Given the description of an element on the screen output the (x, y) to click on. 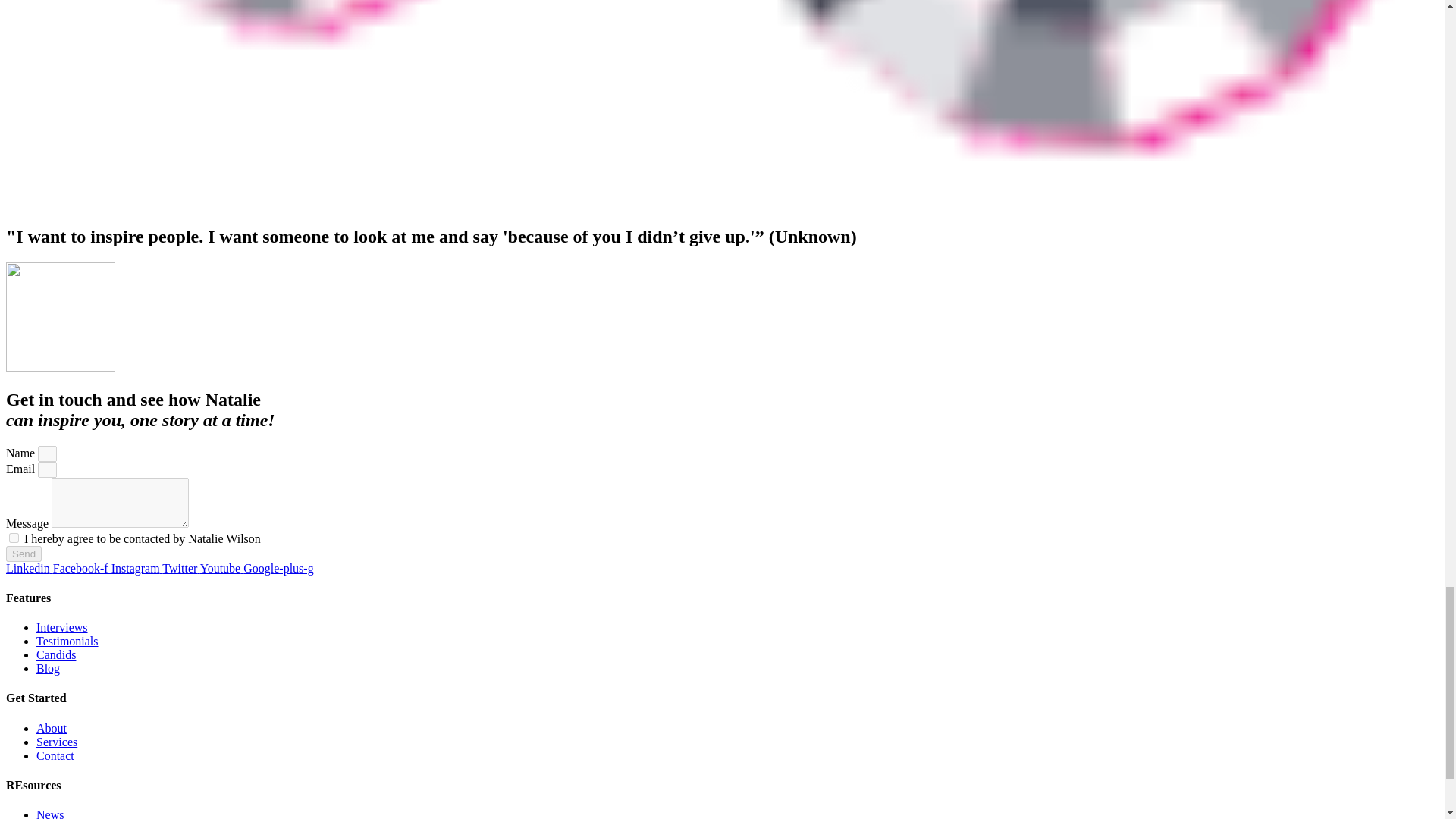
 I hereby agree to be contacted by Natalie Wilson (13, 537)
